Given the description of an element on the screen output the (x, y) to click on. 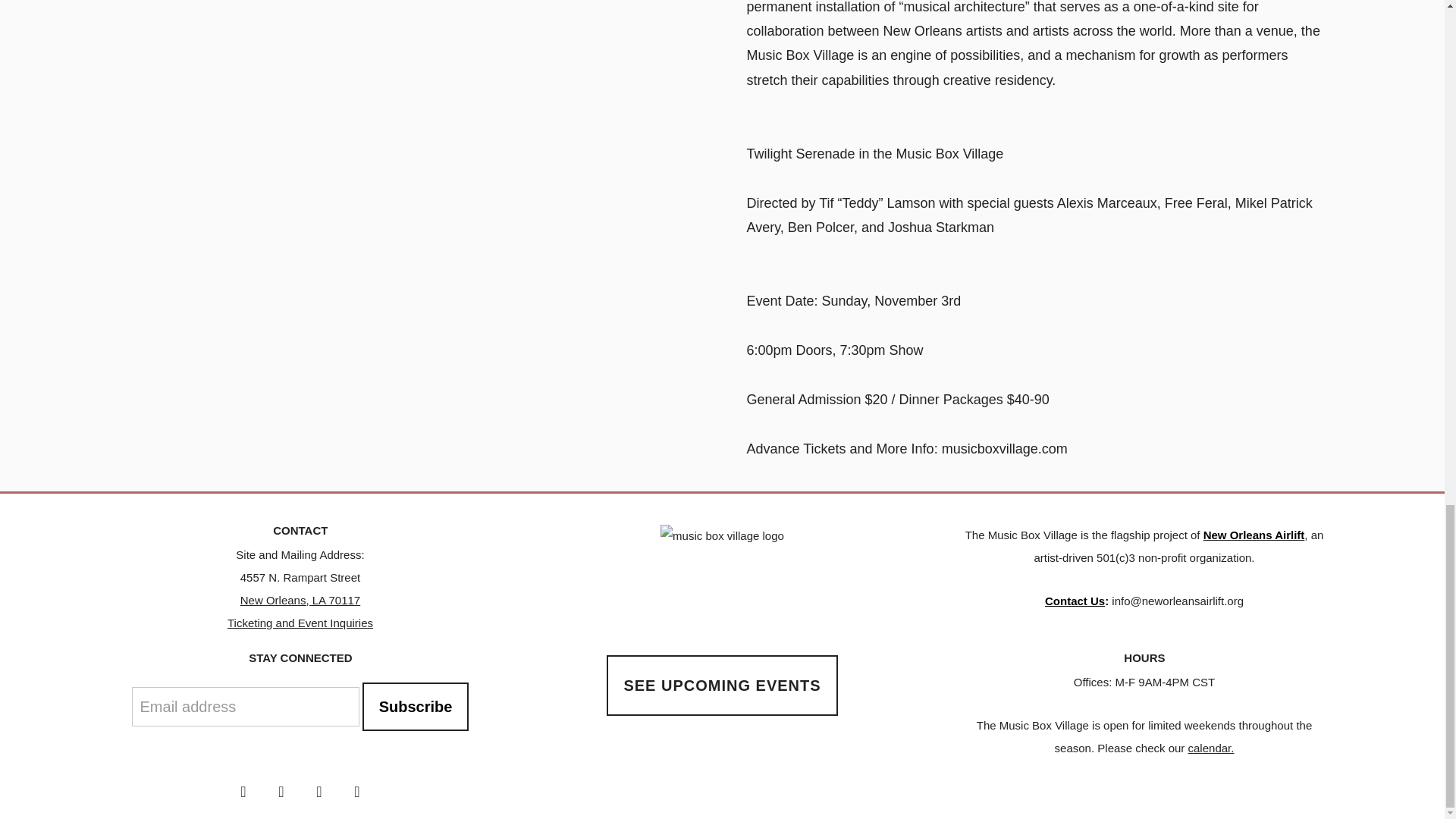
New Orleans Airlift (1254, 534)
calendar. (1211, 748)
Ticketing and Event Inquiries (299, 622)
Contact Us (1075, 600)
SEE UPCOMING EVENTS (722, 685)
Subscribe (415, 706)
New Orleans, LA 70117 (299, 599)
